Given the description of an element on the screen output the (x, y) to click on. 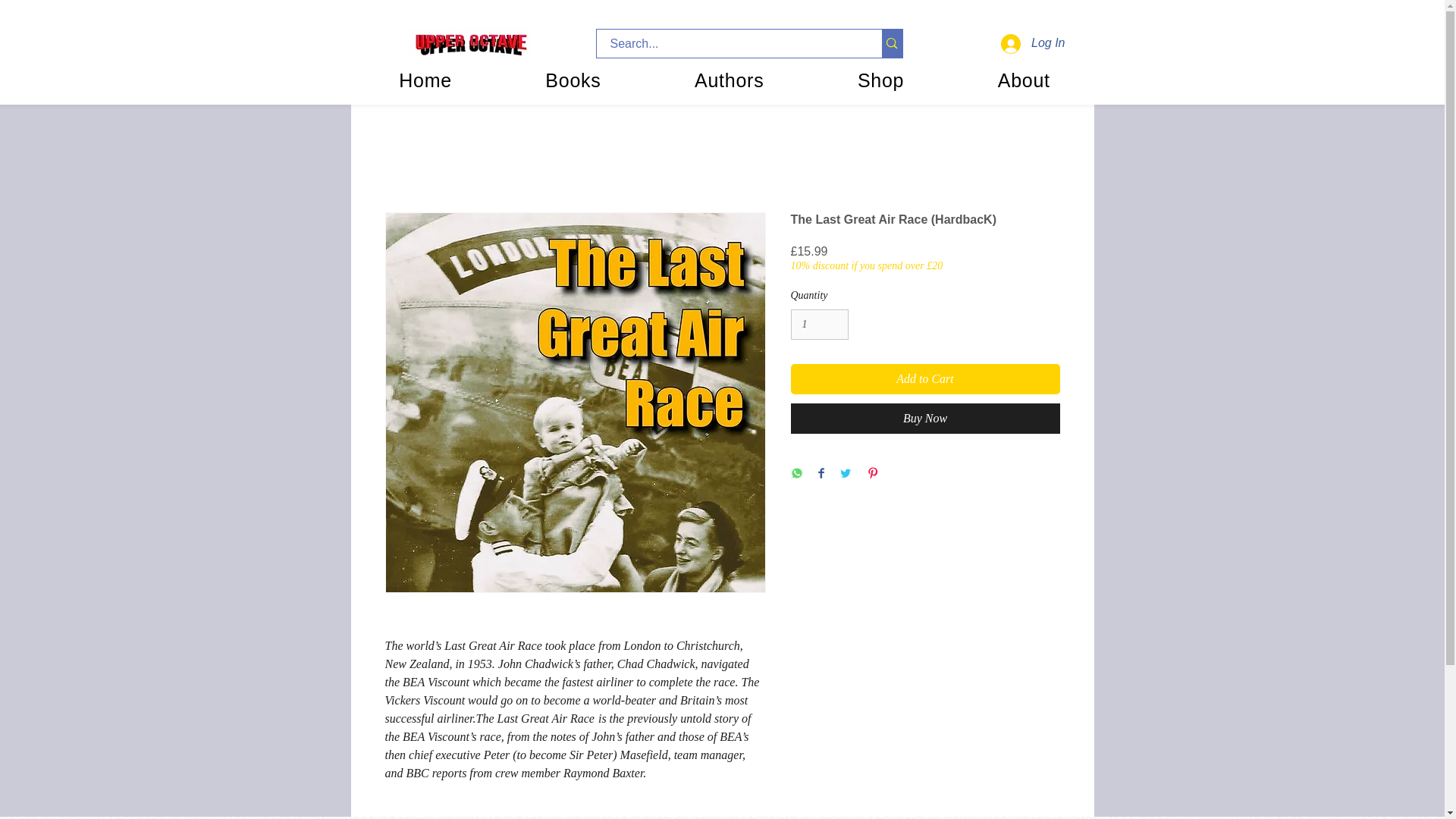
1 (818, 324)
Home (425, 80)
Log In (1032, 42)
